Given the description of an element on the screen output the (x, y) to click on. 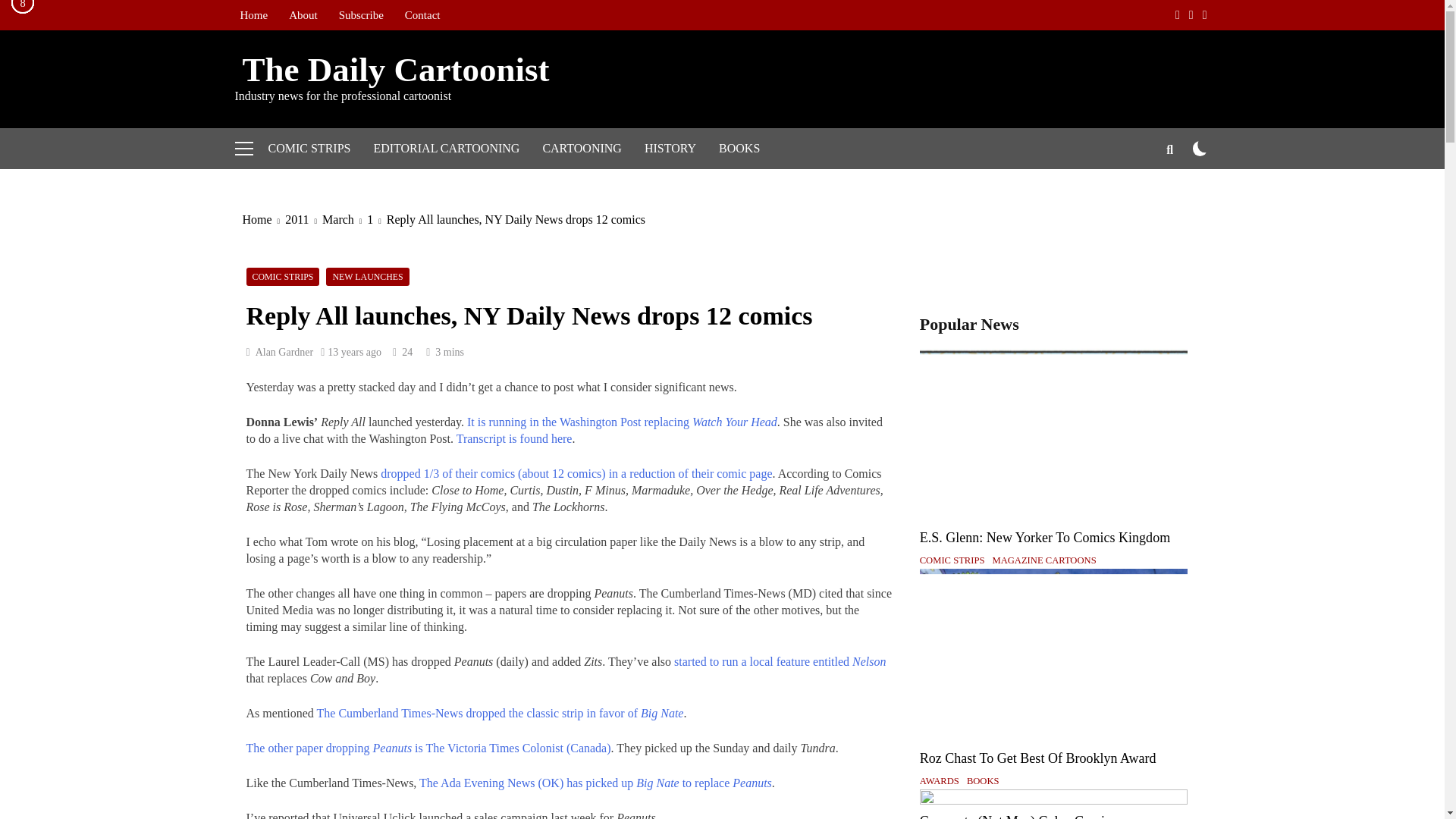
About 'Reply All,' a new seven-day comic strip for The Post (622, 421)
Home (253, 15)
The Comics Reporter (575, 472)
Contact (422, 15)
Subscribe (361, 15)
Subscribe to The Daily Cartoonist (361, 15)
Comic history (670, 147)
on (1199, 147)
The Daily Cartoonist (392, 69)
Award-winning Tundra joins comics (428, 748)
About (302, 15)
